Given the description of an element on the screen output the (x, y) to click on. 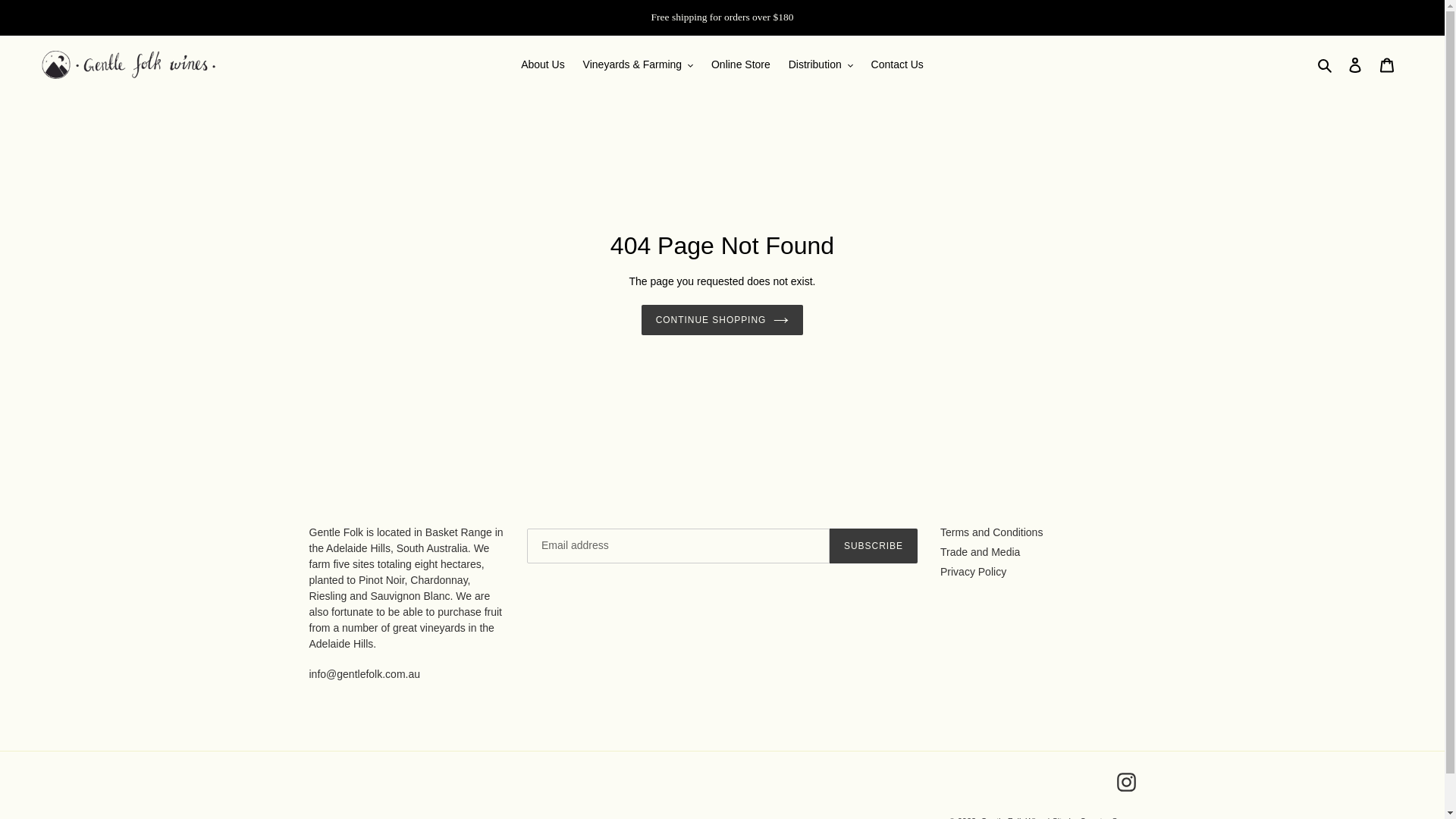
CONTINUE SHOPPING Element type: text (722, 319)
Cart Element type: text (1386, 64)
Privacy Policy Element type: text (973, 571)
Trade and Media Element type: text (979, 552)
Distribution Element type: text (820, 64)
Online Store Element type: text (740, 64)
Terms and Conditions Element type: text (991, 532)
Log in Element type: text (1355, 64)
About Us Element type: text (542, 64)
Search Element type: text (1325, 64)
Vineyards & Farming Element type: text (637, 64)
SUBSCRIBE Element type: text (873, 545)
Instagram Element type: text (1125, 781)
Contact Us Element type: text (897, 64)
